Given the description of an element on the screen output the (x, y) to click on. 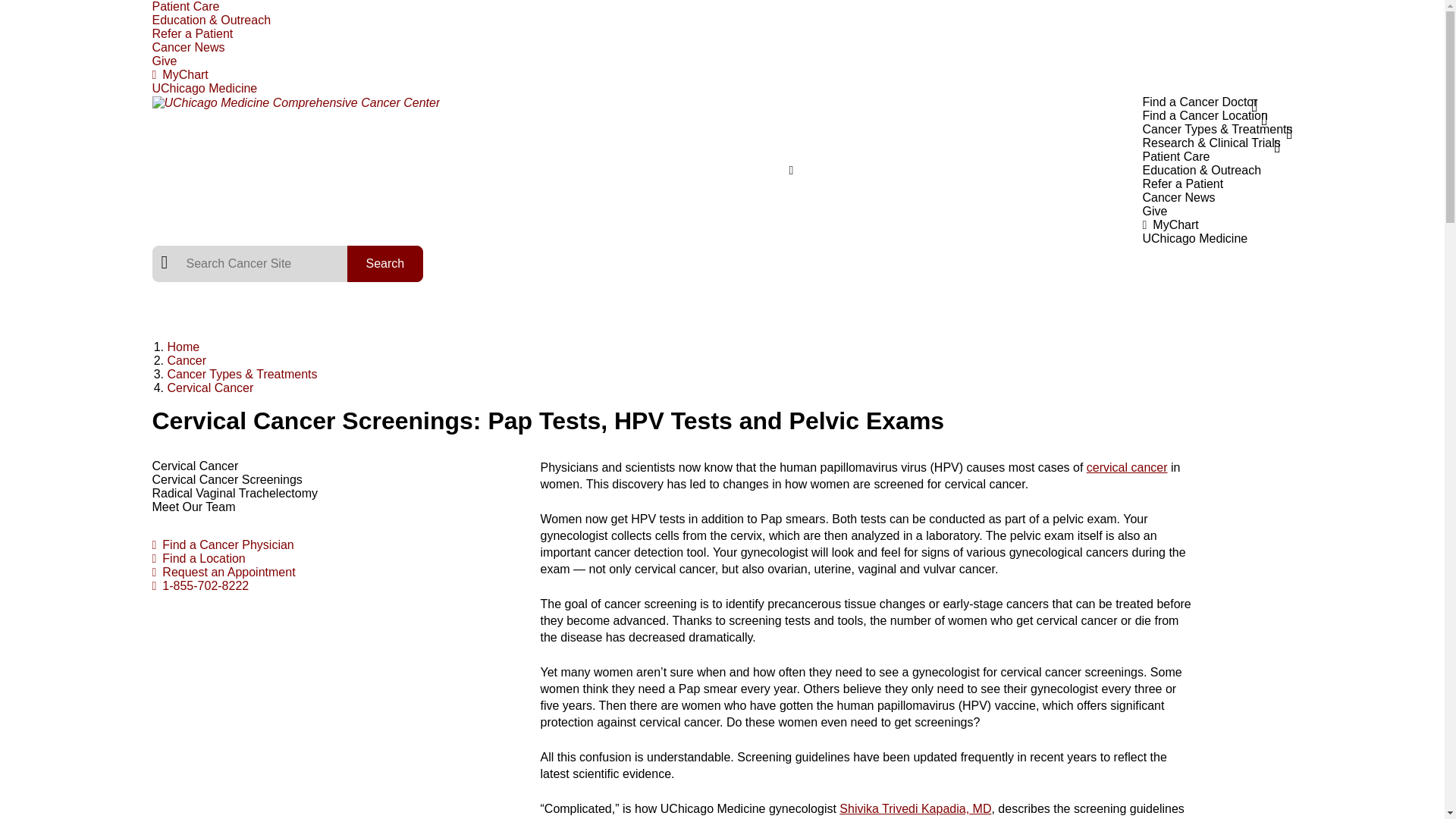
UChicago Medicine (1194, 237)
Cervical Cancer (194, 465)
Find a Cancer Location (1203, 115)
UChicago Medicine (204, 88)
Give (163, 60)
MyChart (721, 74)
Cancer (186, 359)
Cervical Cancer (210, 387)
Cancer News (187, 47)
Refer a Patient (191, 33)
cervical cancer (1126, 467)
Meet Our Team (192, 506)
Radical Vaginal Trachelectomy (234, 492)
Search (385, 263)
Home (183, 346)
